Given the description of an element on the screen output the (x, y) to click on. 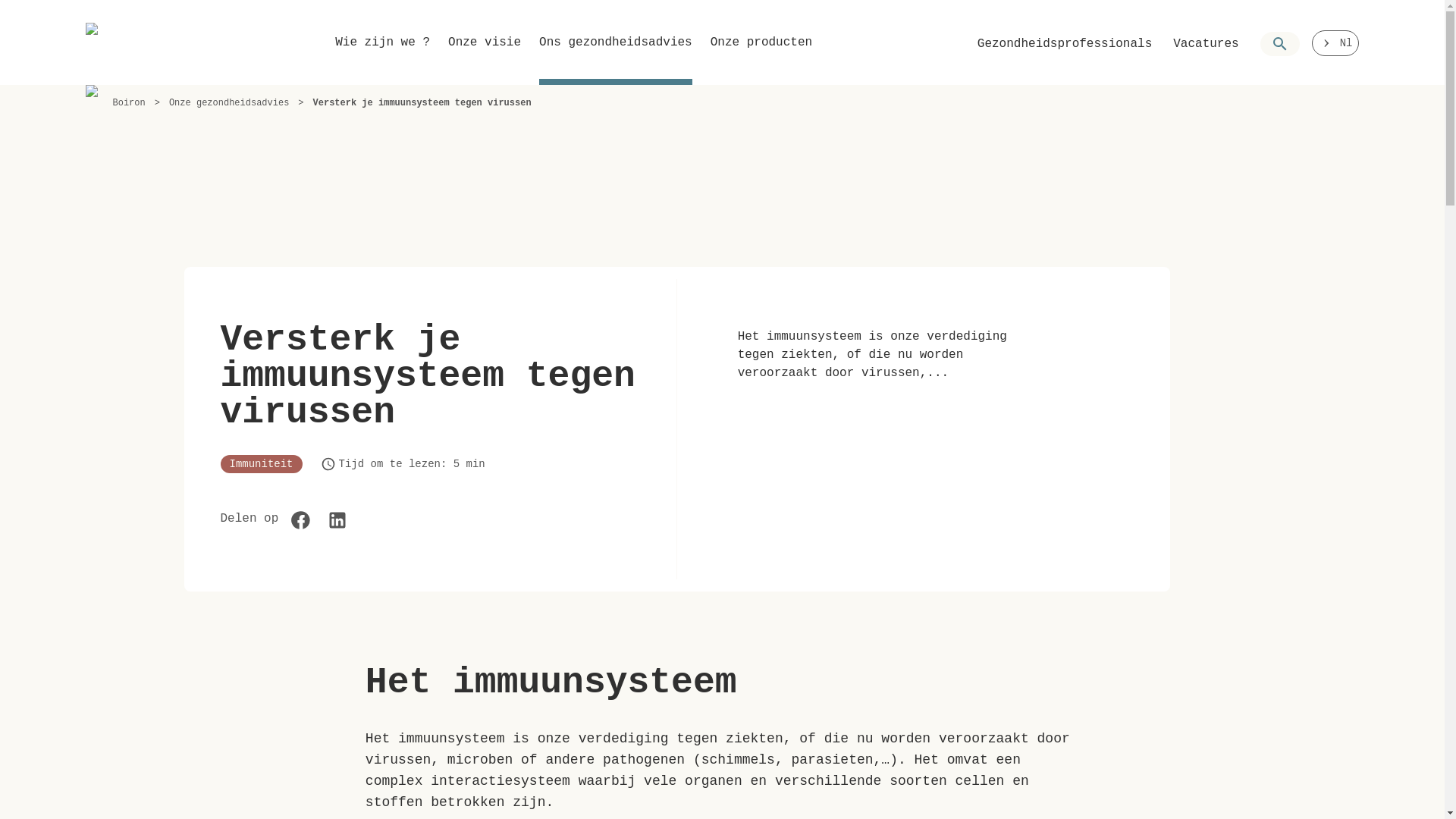
Delen op Facebook Element type: hover (300, 519)
Boiron Element type: hover (126, 42)
Nl Element type: text (1335, 43)
Onze gezondheidsadvies Element type: text (228, 102)
Wie zijn we ? Element type: text (382, 55)
Boiron Element type: text (128, 102)
Vacatures Element type: text (1205, 43)
Delen op LinkedIn Element type: hover (337, 519)
Gezondheidsprofessionals Element type: text (1064, 43)
Ons gezondheidsadvies Element type: text (615, 55)
Immuniteit Element type: text (260, 464)
Onze producten Element type: text (761, 55)
Zoeken Element type: hover (1279, 43)
Onze visie Element type: text (484, 55)
